Given the description of an element on the screen output the (x, y) to click on. 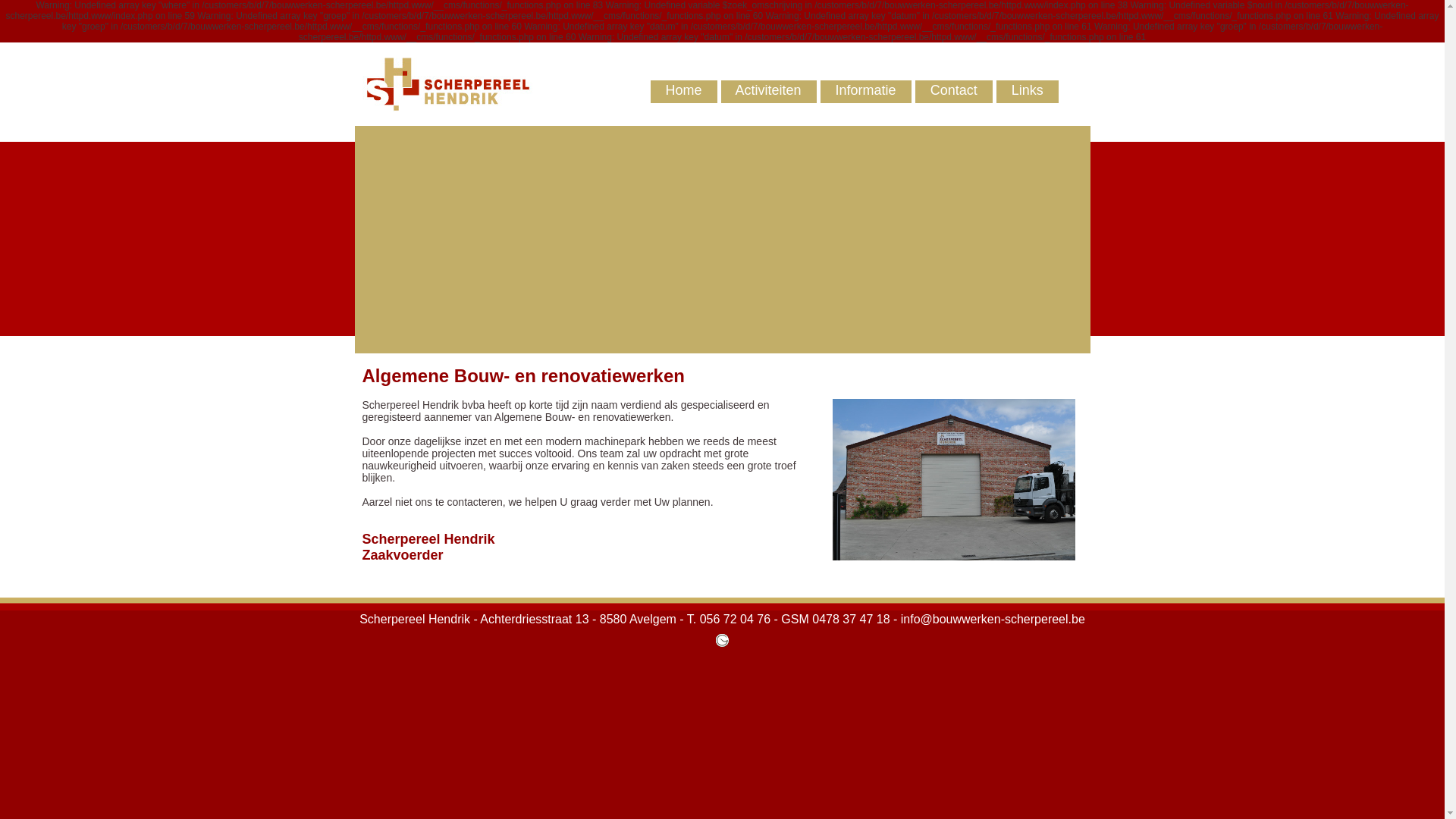
Made by Geka Element type: hover (721, 642)
    Informatie Element type: text (858, 89)
    Activiteiten Element type: text (761, 89)
    Links Element type: text (1019, 89)
    Home Element type: text (676, 89)
    Contact Element type: text (946, 89)
oprit Element type: hover (953, 479)
